Given the description of an element on the screen output the (x, y) to click on. 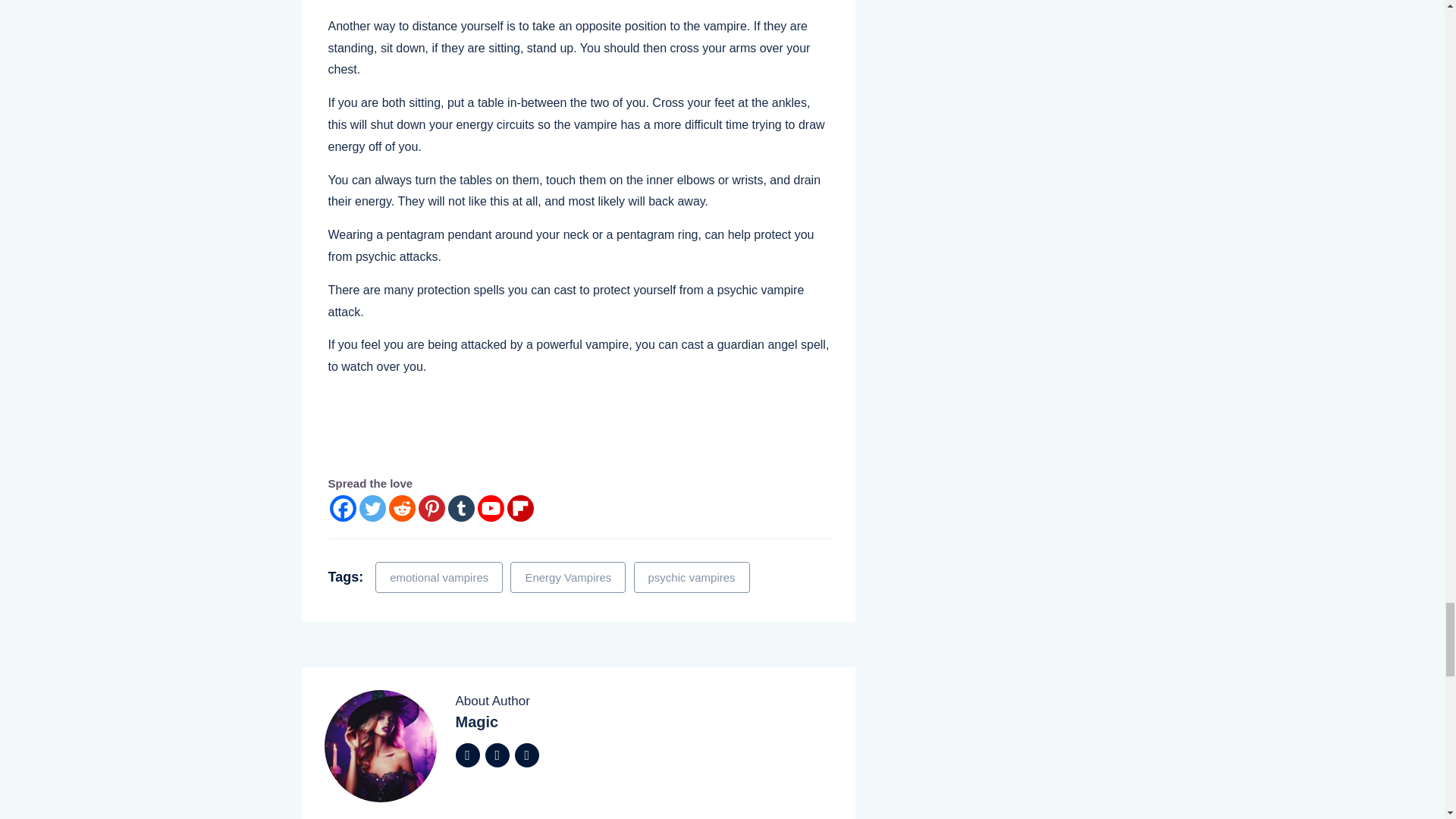
Pinterest (432, 508)
Twitter (372, 508)
Facebook (342, 508)
Tumblr (460, 508)
Reddit (401, 508)
